Given the description of an element on the screen output the (x, y) to click on. 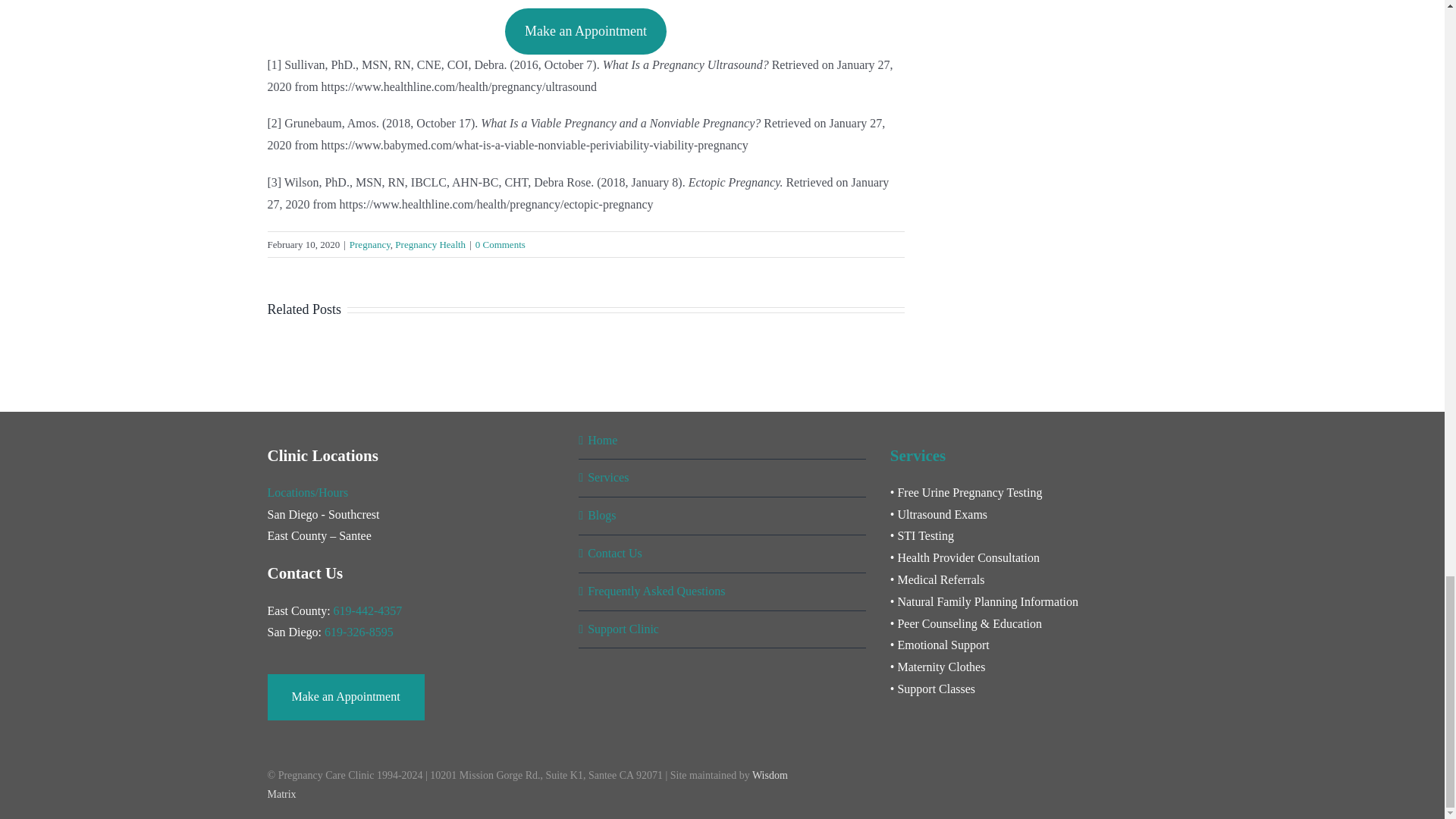
0 Comments (500, 244)
Pregnancy Health (429, 244)
Pregnancy (369, 244)
Make an Appointment (585, 31)
